Given the description of an element on the screen output the (x, y) to click on. 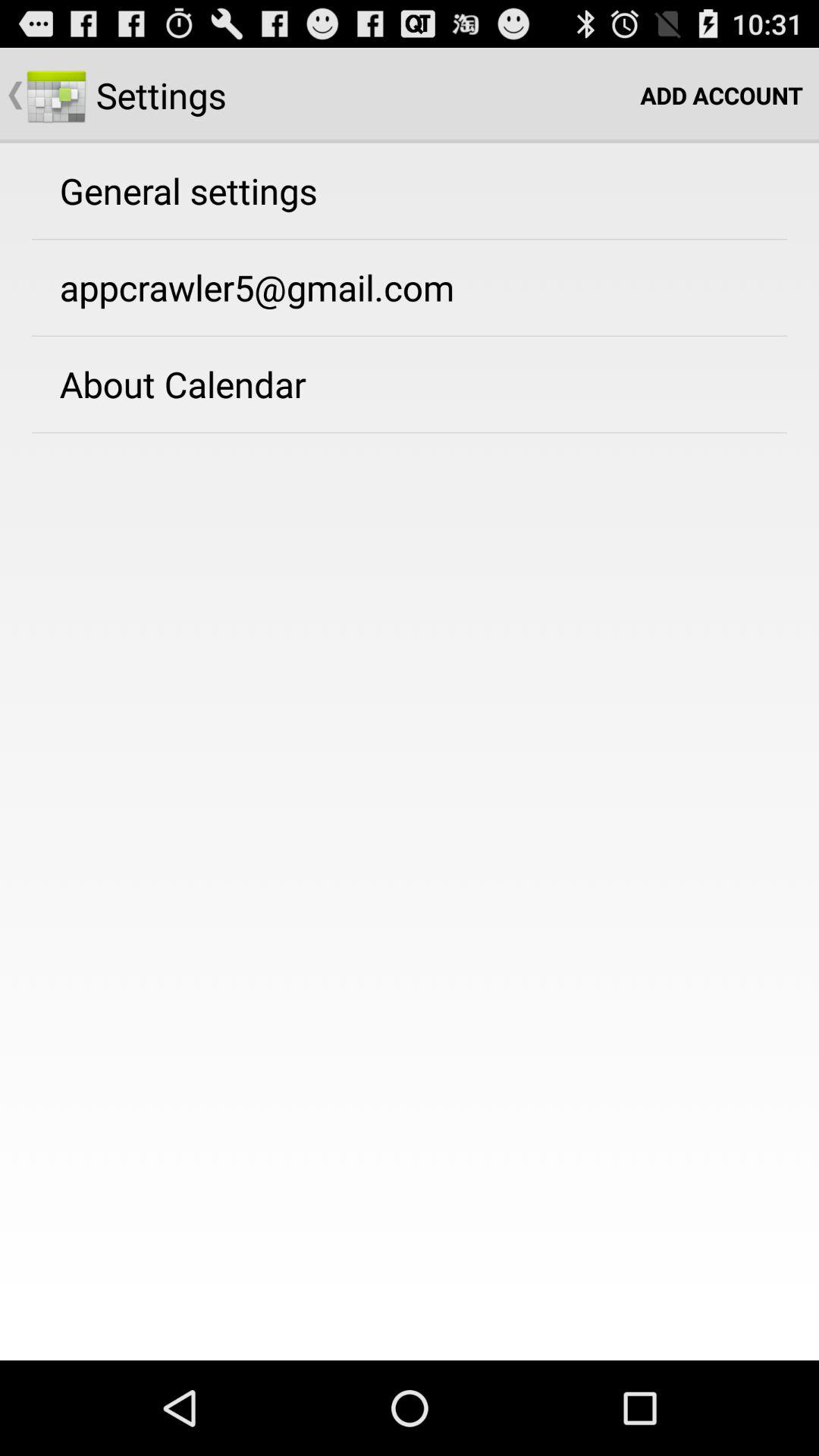
choose appcrawler5@gmail.com item (256, 287)
